Given the description of an element on the screen output the (x, y) to click on. 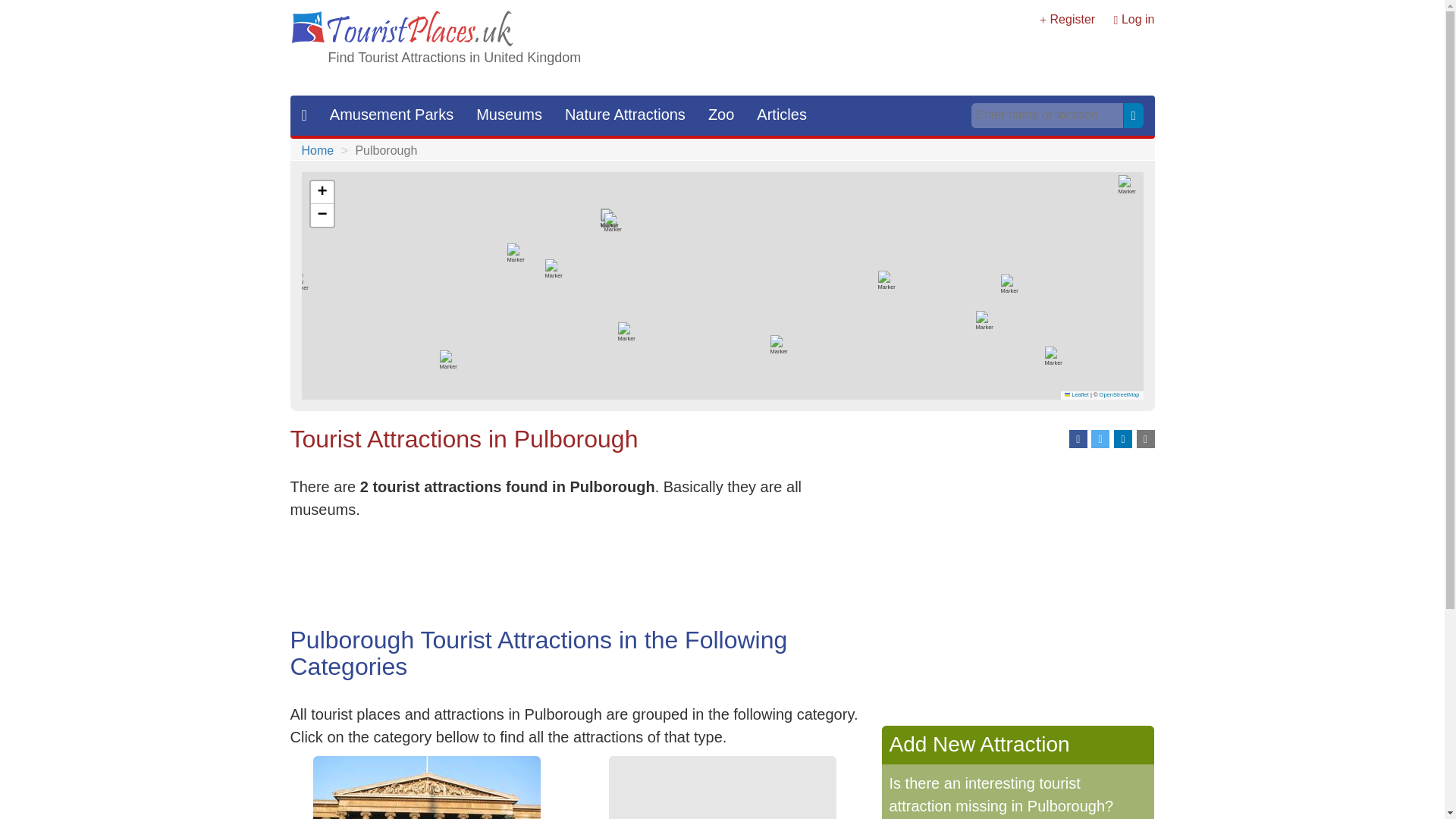
Museums (426, 787)
Find Tourist Attractions in United Kingdom (453, 57)
Find Tourist Attractions in United Kingdom (453, 57)
Zoom in (322, 191)
Zoo (721, 114)
Leaflet (1076, 394)
Log in (1137, 19)
www.touristplaces.uk (401, 31)
Zoom out (322, 214)
Museums (508, 114)
OpenStreetMap (1119, 394)
Articles (781, 114)
www.touristplaces.uk (401, 29)
Nature Attractions (625, 114)
A JavaScript library for interactive maps (1076, 394)
